Given the description of an element on the screen output the (x, y) to click on. 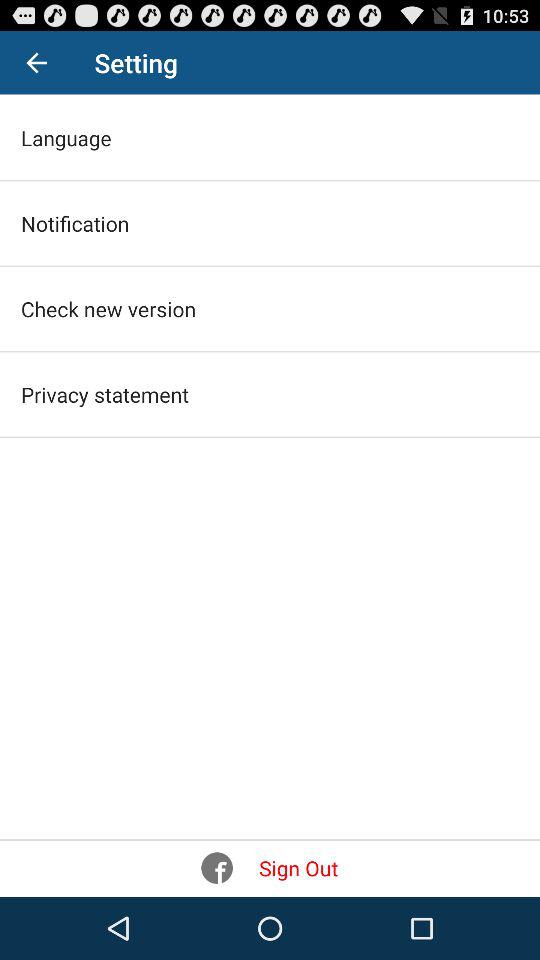
choose the icon to the left of the setting item (36, 62)
